Given the description of an element on the screen output the (x, y) to click on. 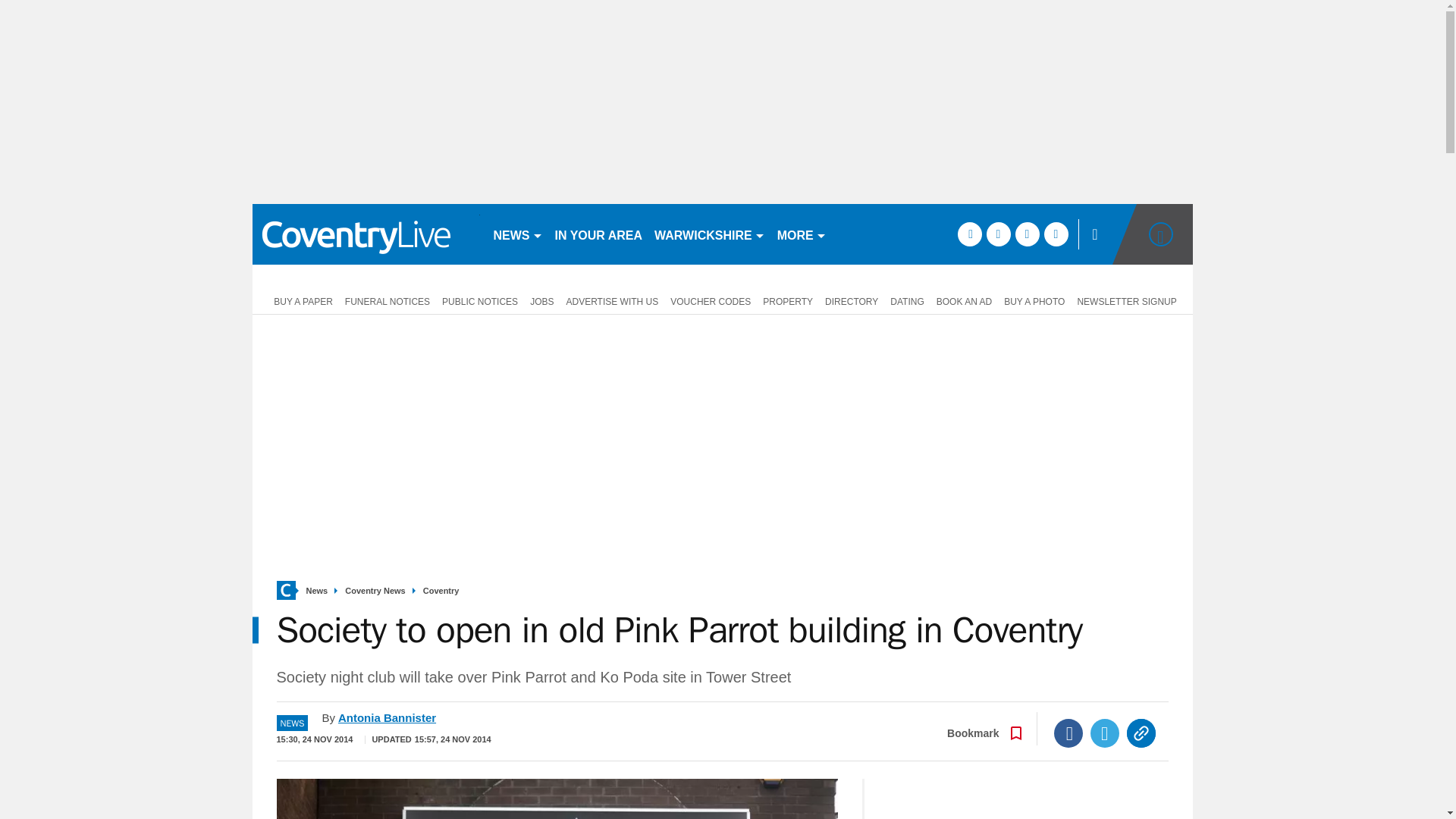
instagram (1055, 233)
facebook (968, 233)
twitter (997, 233)
MORE (801, 233)
NEWS (517, 233)
coventrytelegraph (365, 233)
Facebook (1068, 733)
IN YOUR AREA (598, 233)
Twitter (1104, 733)
WARWICKSHIRE (709, 233)
